Given the description of an element on the screen output the (x, y) to click on. 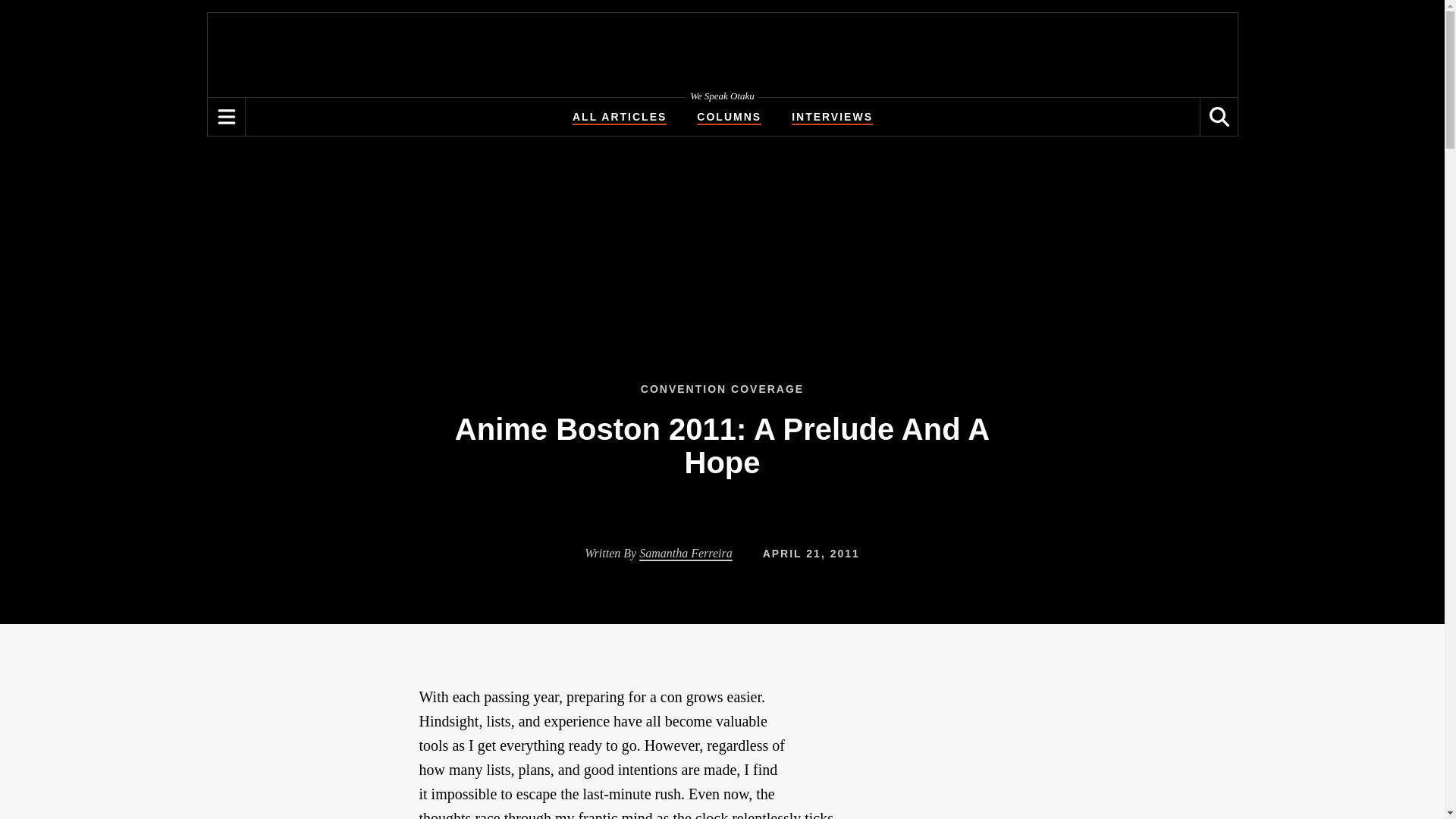
ALL ARTICLES (618, 116)
Menu (227, 116)
Anime Boston Logo (911, 737)
INTERVIEWS (832, 116)
Samantha Ferreira (685, 553)
COLUMNS (729, 116)
Search (1218, 116)
